Given the description of an element on the screen output the (x, y) to click on. 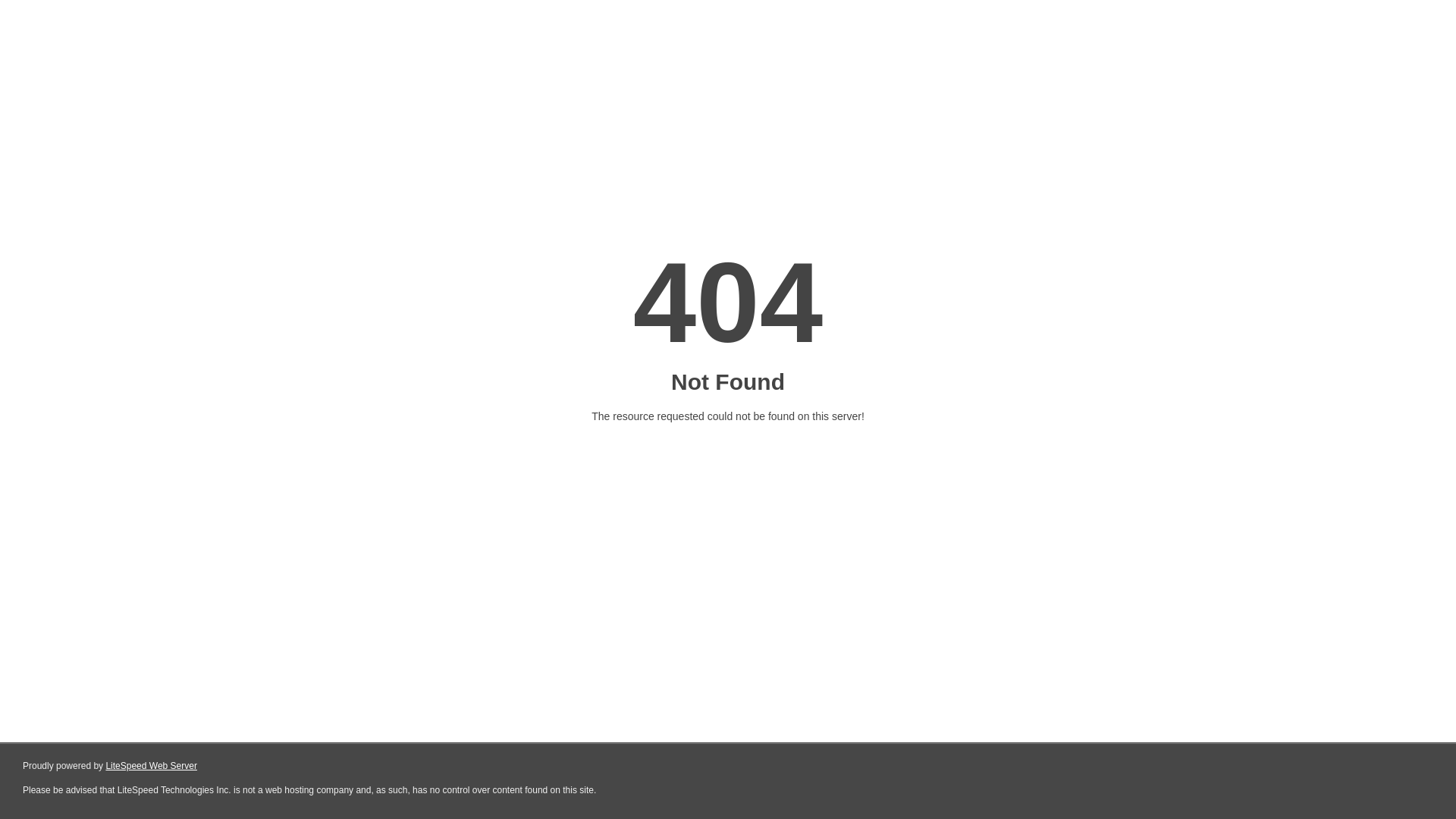
LiteSpeed Web Server Element type: text (151, 765)
